Given the description of an element on the screen output the (x, y) to click on. 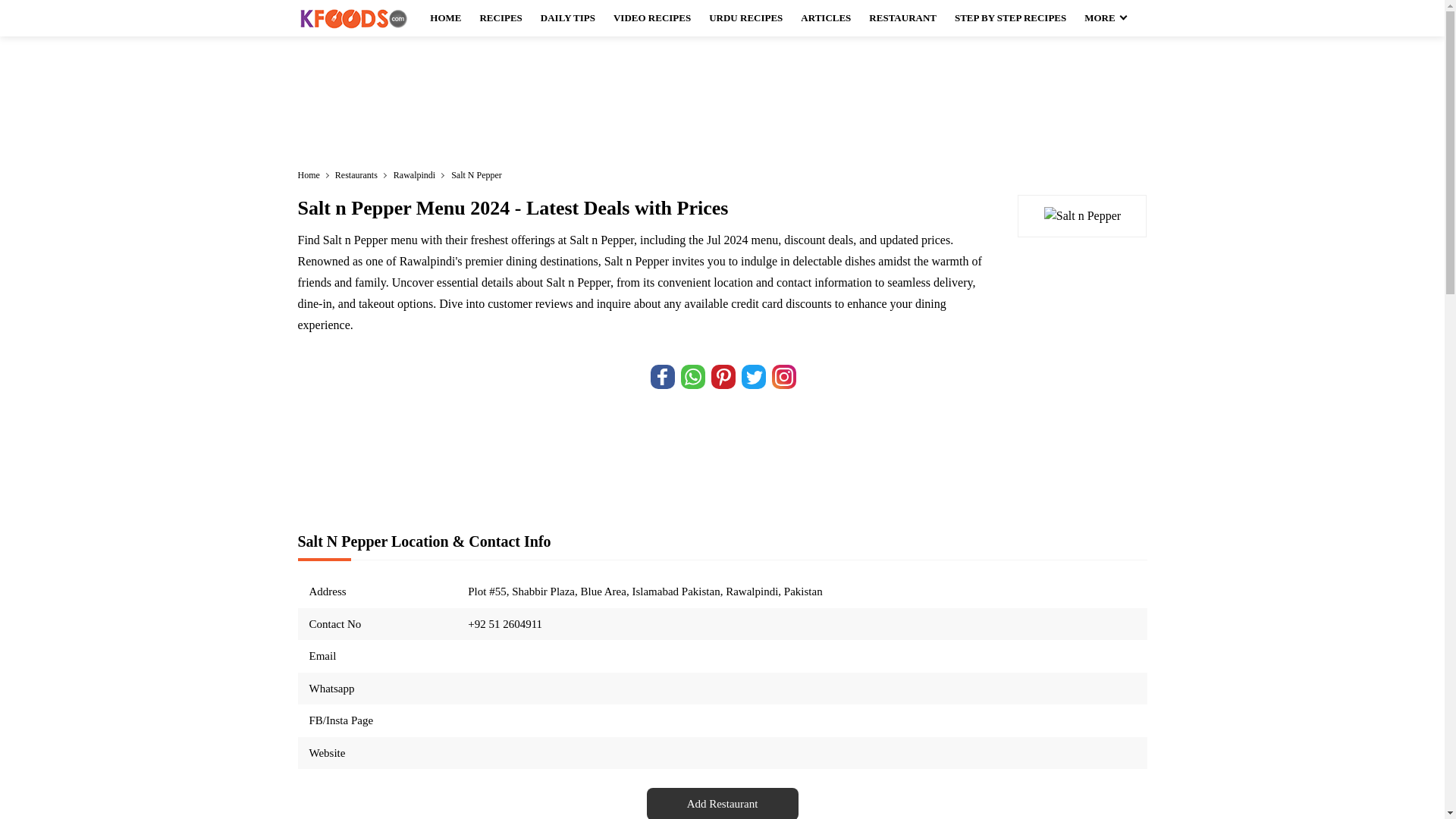
STEP BY STEP RECIPES (1010, 18)
RECIPES (500, 18)
MORE (1104, 18)
DAILY TIPS (567, 18)
Restaurants (362, 175)
Home (314, 175)
URDU RECIPES (745, 18)
HOME (445, 18)
VIDEO RECIPES (651, 18)
ARTICLES (826, 18)
Kfood (353, 18)
Add Restaurant (721, 803)
RESTAURANT (902, 18)
Rawalpindi (420, 175)
